Given the description of an element on the screen output the (x, y) to click on. 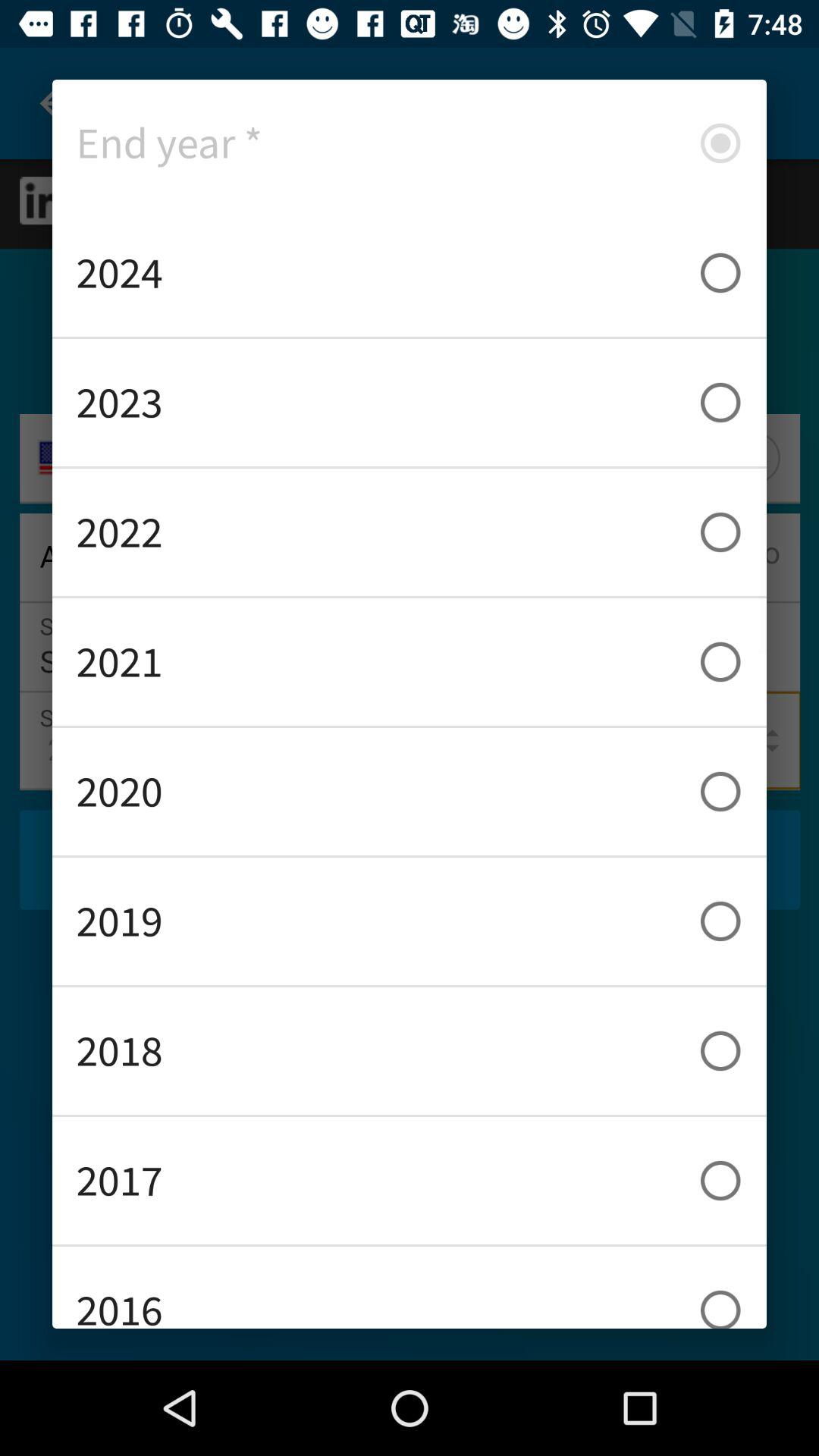
jump until the 2019 icon (409, 921)
